Given the description of an element on the screen output the (x, y) to click on. 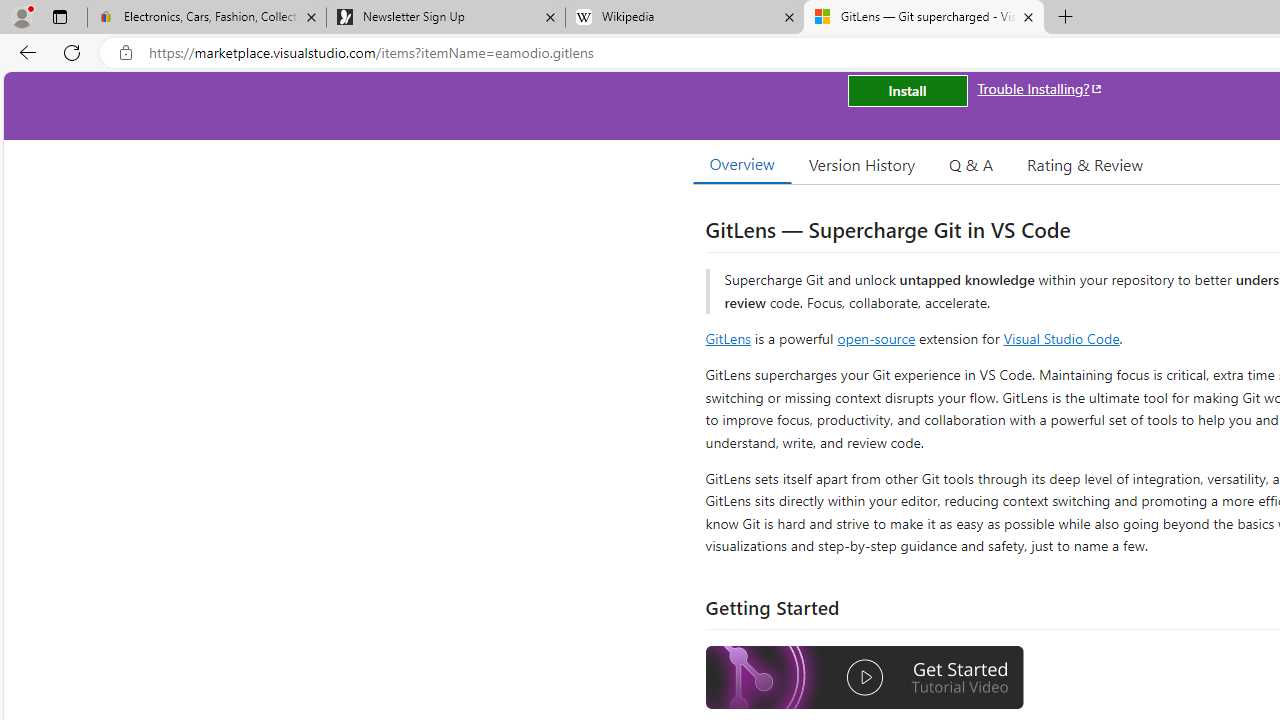
Watch the GitLens Getting Started video (865, 678)
Version History (862, 164)
GitLens (728, 337)
Wikipedia (684, 17)
Watch the GitLens Getting Started video (865, 679)
